Given the description of an element on the screen output the (x, y) to click on. 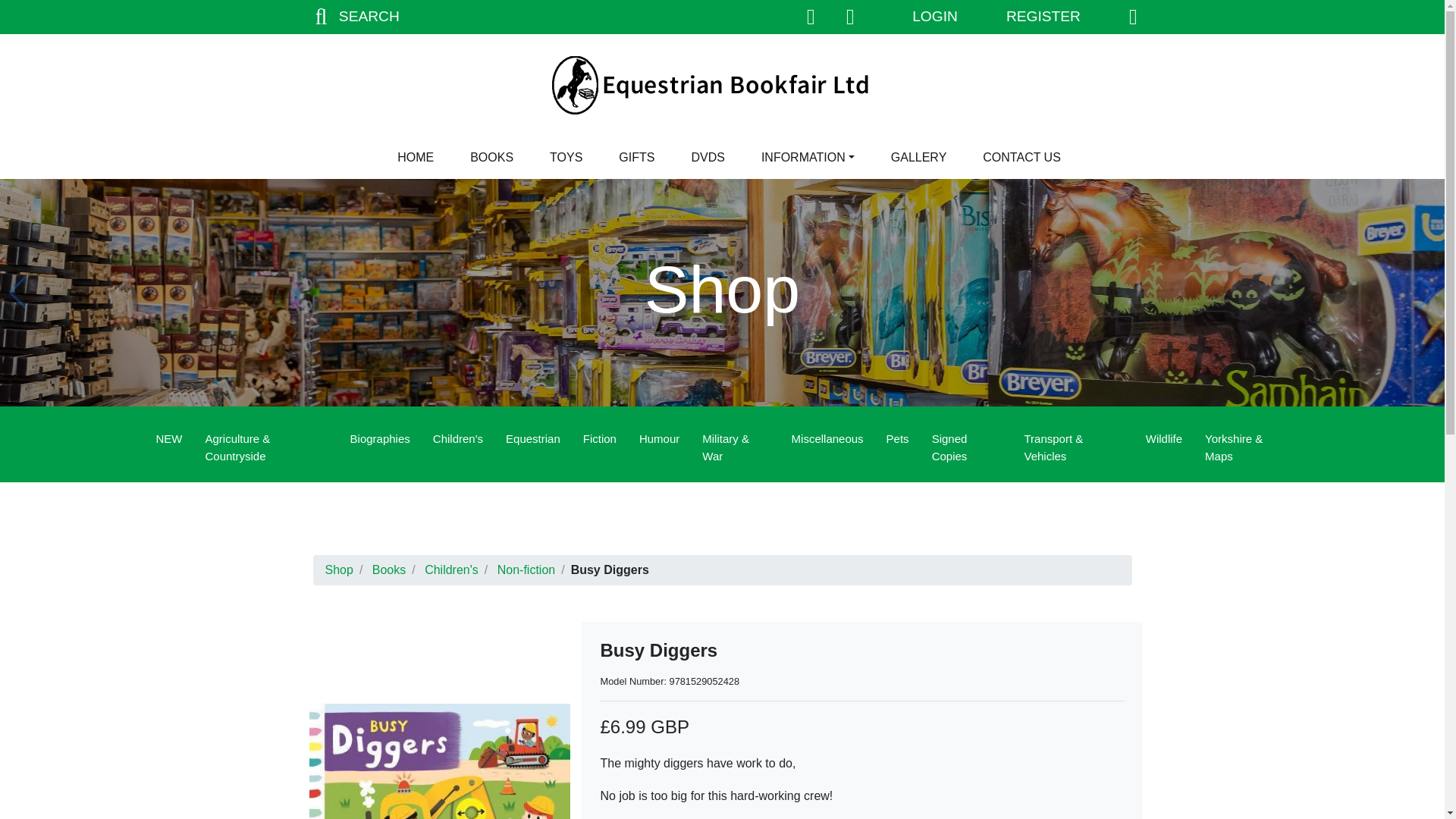
TOYS (565, 157)
 SEARCH (353, 17)
Equestrian Bookfair (721, 84)
Children's (458, 440)
REGISTER (1043, 17)
HOME (415, 157)
NEW (168, 440)
INFORMATION (807, 157)
Login (934, 17)
LOGIN (934, 17)
CONTACT US (1021, 157)
Biographies (380, 440)
GALLERY (919, 157)
BOOKS (491, 157)
DVDS (707, 157)
